Given the description of an element on the screen output the (x, y) to click on. 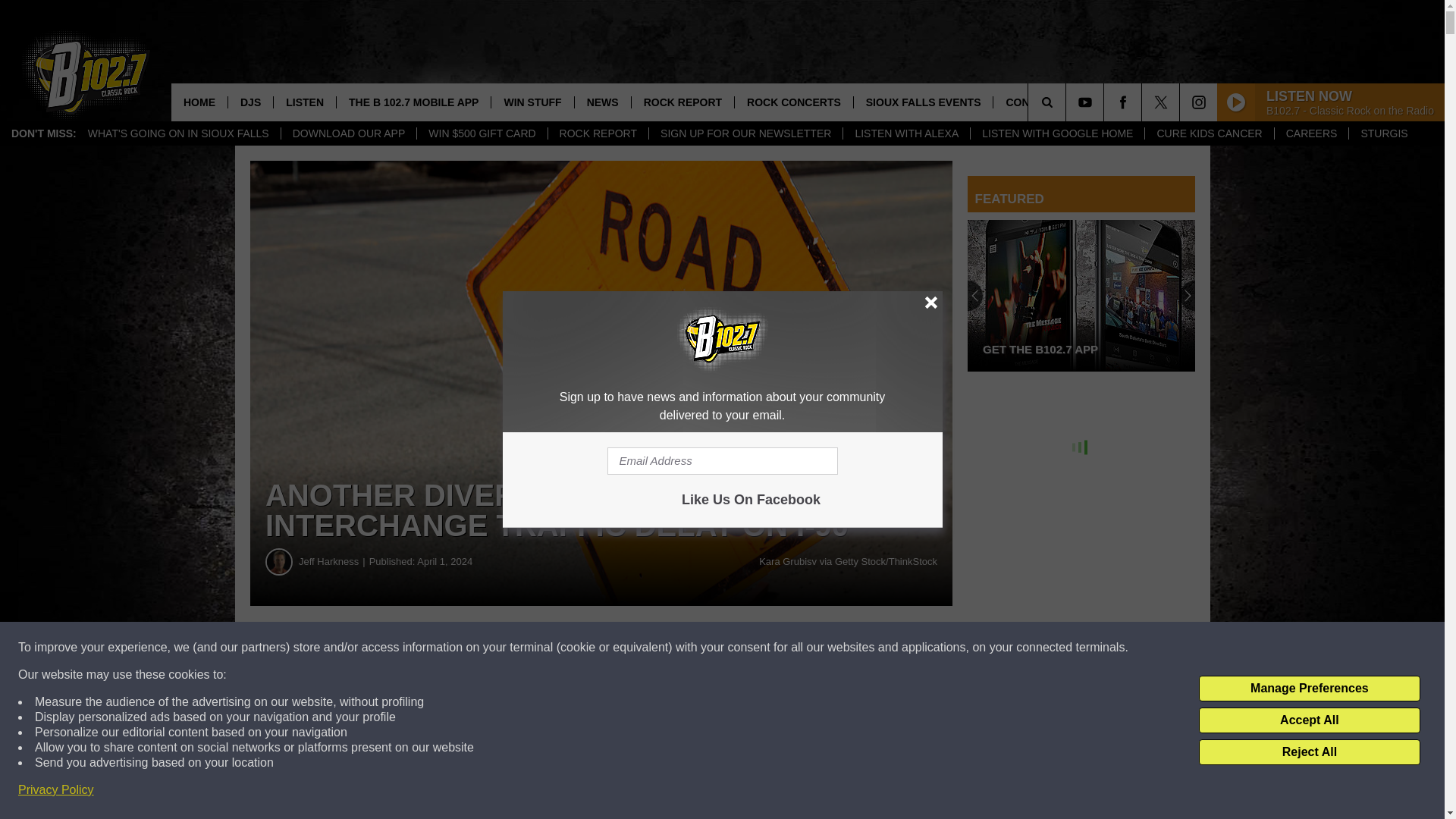
Accept All (1309, 720)
Share on Twitter (741, 647)
LISTEN (304, 102)
Share on Facebook (460, 647)
SEARCH (1068, 102)
SIGN UP FOR OUR NEWSLETTER (745, 133)
WHAT'S GOING ON IN SIOUX FALLS (179, 133)
CURE KIDS CANCER (1208, 133)
DJS (250, 102)
Email Address (722, 461)
SEARCH (1068, 102)
LISTEN WITH GOOGLE HOME (1056, 133)
STURGIS (1383, 133)
DOWNLOAD OUR APP (348, 133)
Reject All (1309, 751)
